Given the description of an element on the screen output the (x, y) to click on. 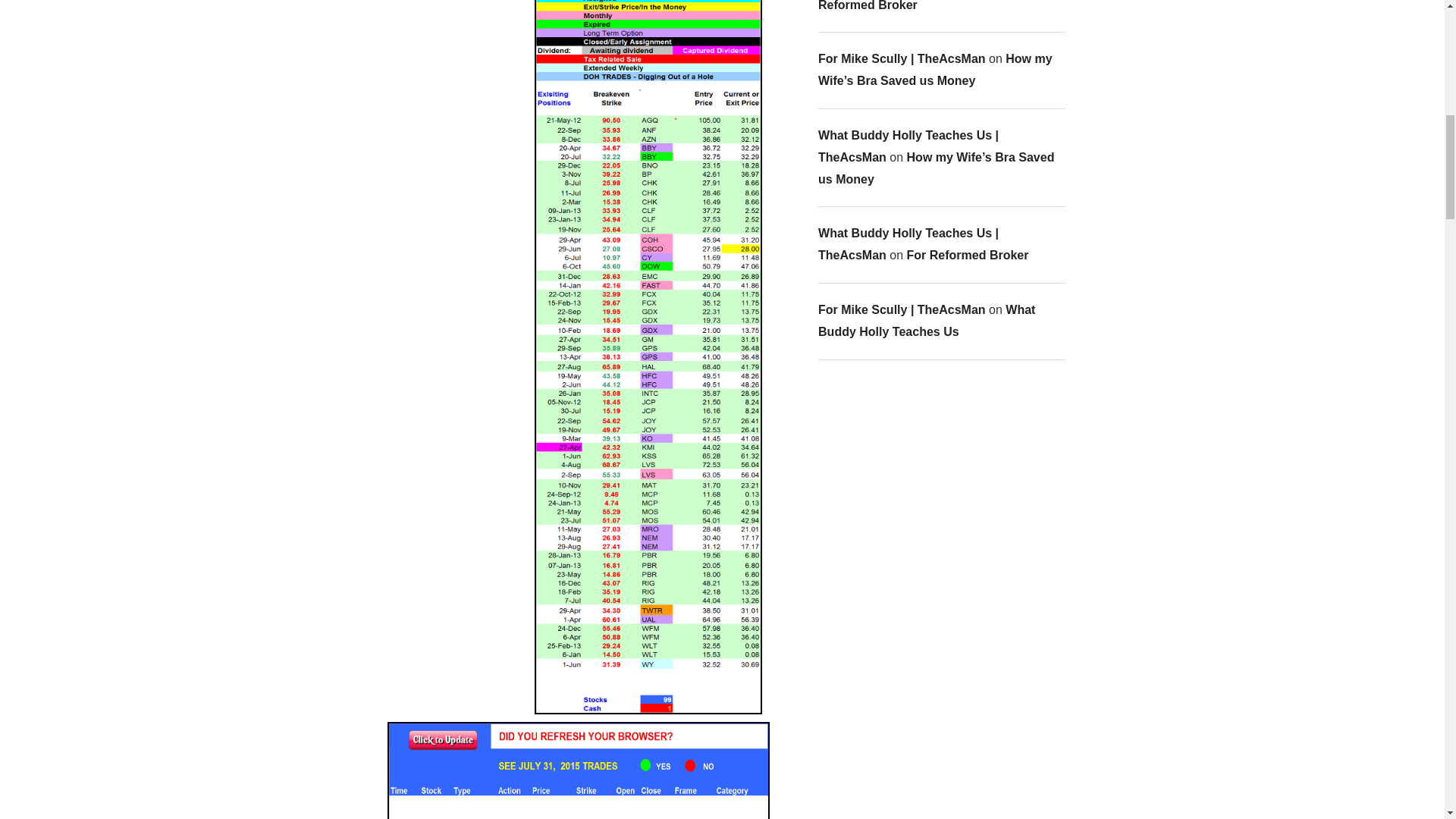
For Reformed Broker (925, 5)
What Buddy Holly Teaches Us (926, 320)
For Reformed Broker (968, 254)
